Given the description of an element on the screen output the (x, y) to click on. 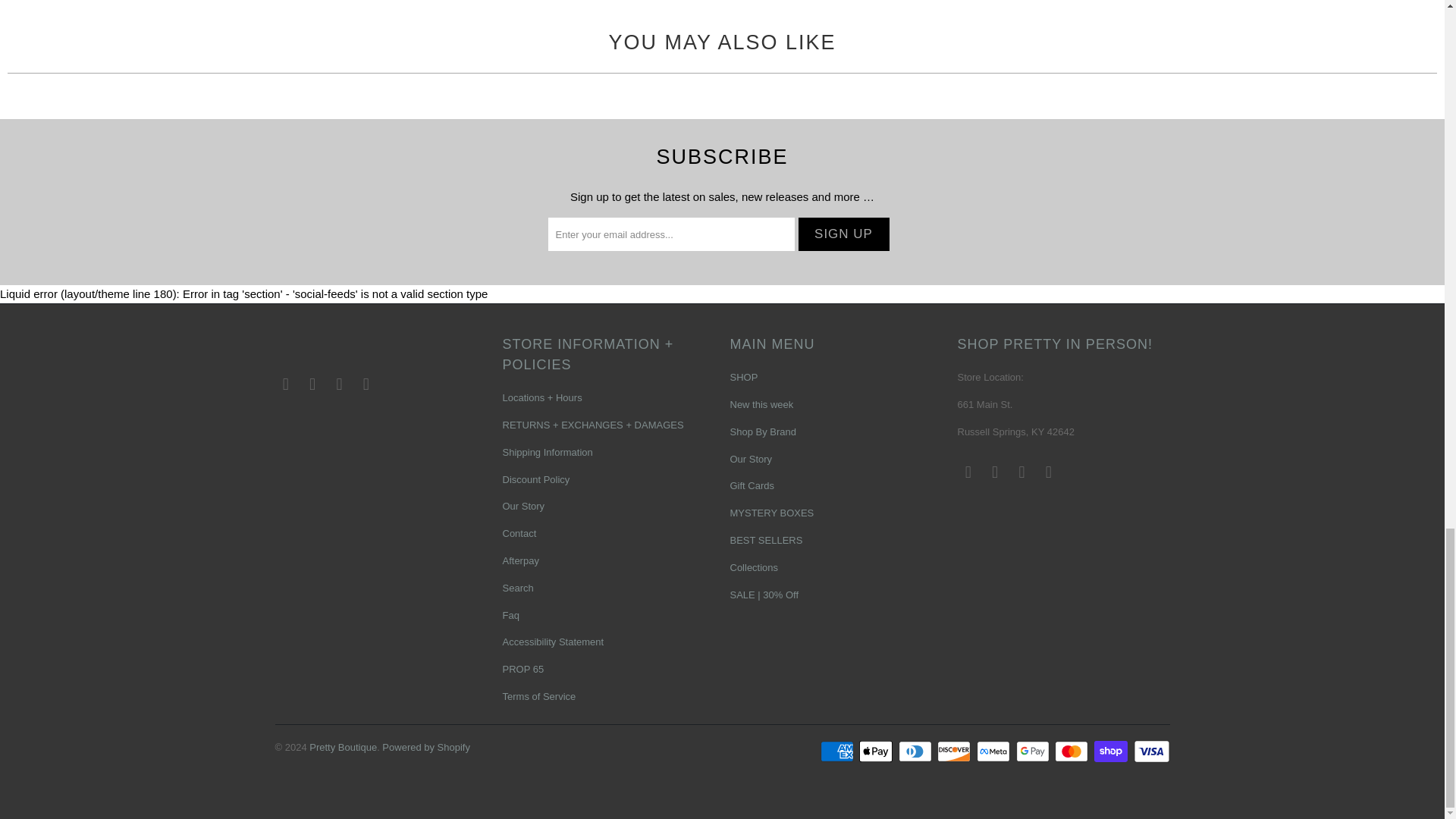
Pretty Boutique  on Facebook (286, 384)
Sign Up (842, 233)
Mastercard (1072, 751)
American Express (839, 751)
Pretty Boutique  on Facebook (967, 472)
Pretty Boutique  on Pinterest (995, 472)
Discover (955, 751)
Shop Pay (1112, 751)
Visa (1150, 751)
Diners Club (916, 751)
